Given the description of an element on the screen output the (x, y) to click on. 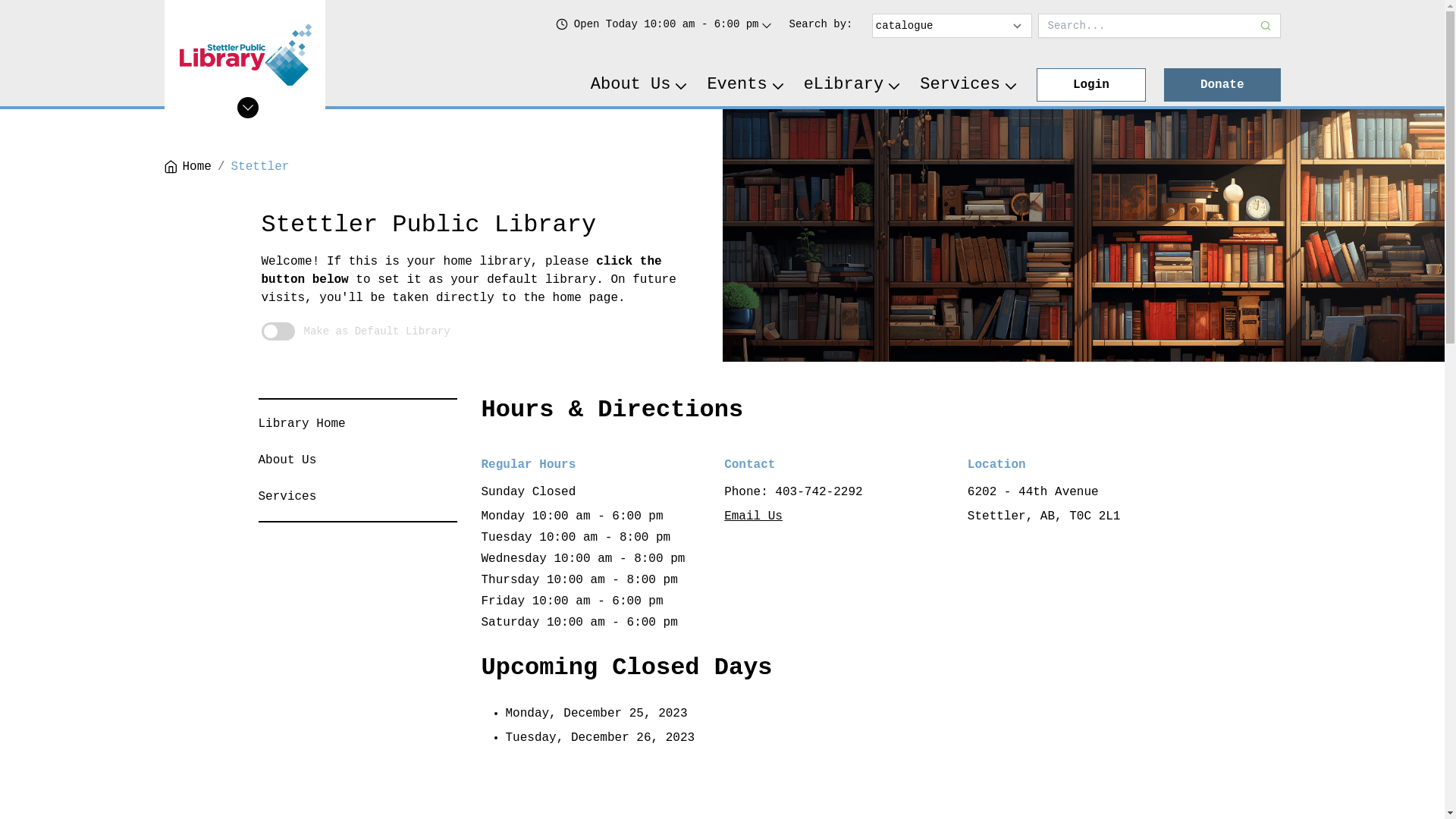
Home Element type: text (186, 166)
Email Us Element type: text (753, 516)
Events Element type: text (745, 84)
Stettler Element type: text (260, 166)
eLibrary Element type: text (852, 84)
Library Home Element type: text (301, 423)
About Us Element type: text (286, 460)
Login Element type: text (1090, 84)
About Us Element type: text (639, 84)
Donate Element type: text (1222, 84)
Services Element type: text (286, 496)
Services Element type: text (968, 84)
